Given the description of an element on the screen output the (x, y) to click on. 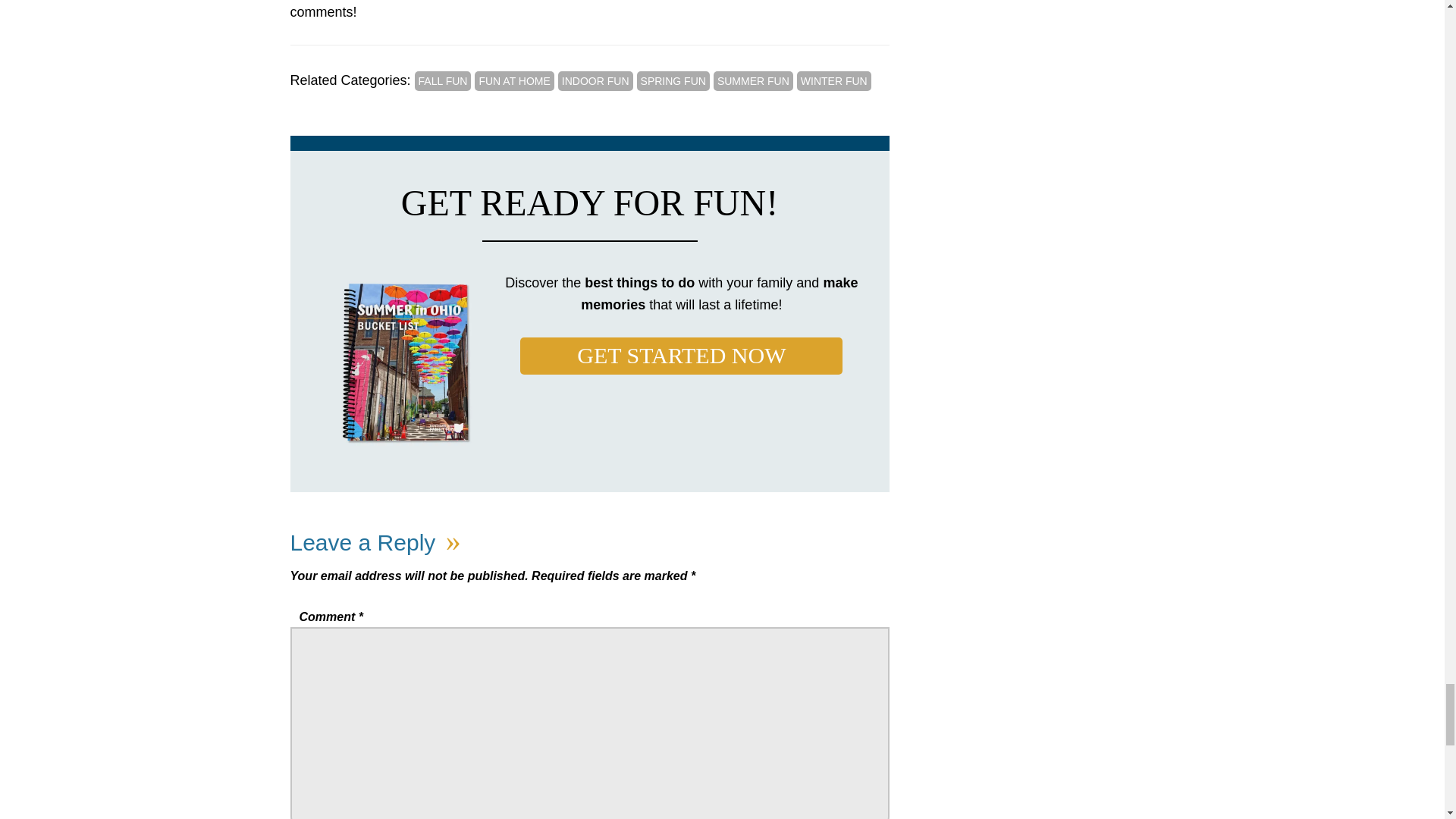
FUN AT HOME (513, 80)
SPRING FUN (673, 80)
WINTER FUN (833, 80)
SUMMER FUN (753, 80)
INDOOR FUN (595, 80)
FALL FUN (442, 80)
GET STARTED NOW (681, 355)
